Given the description of an element on the screen output the (x, y) to click on. 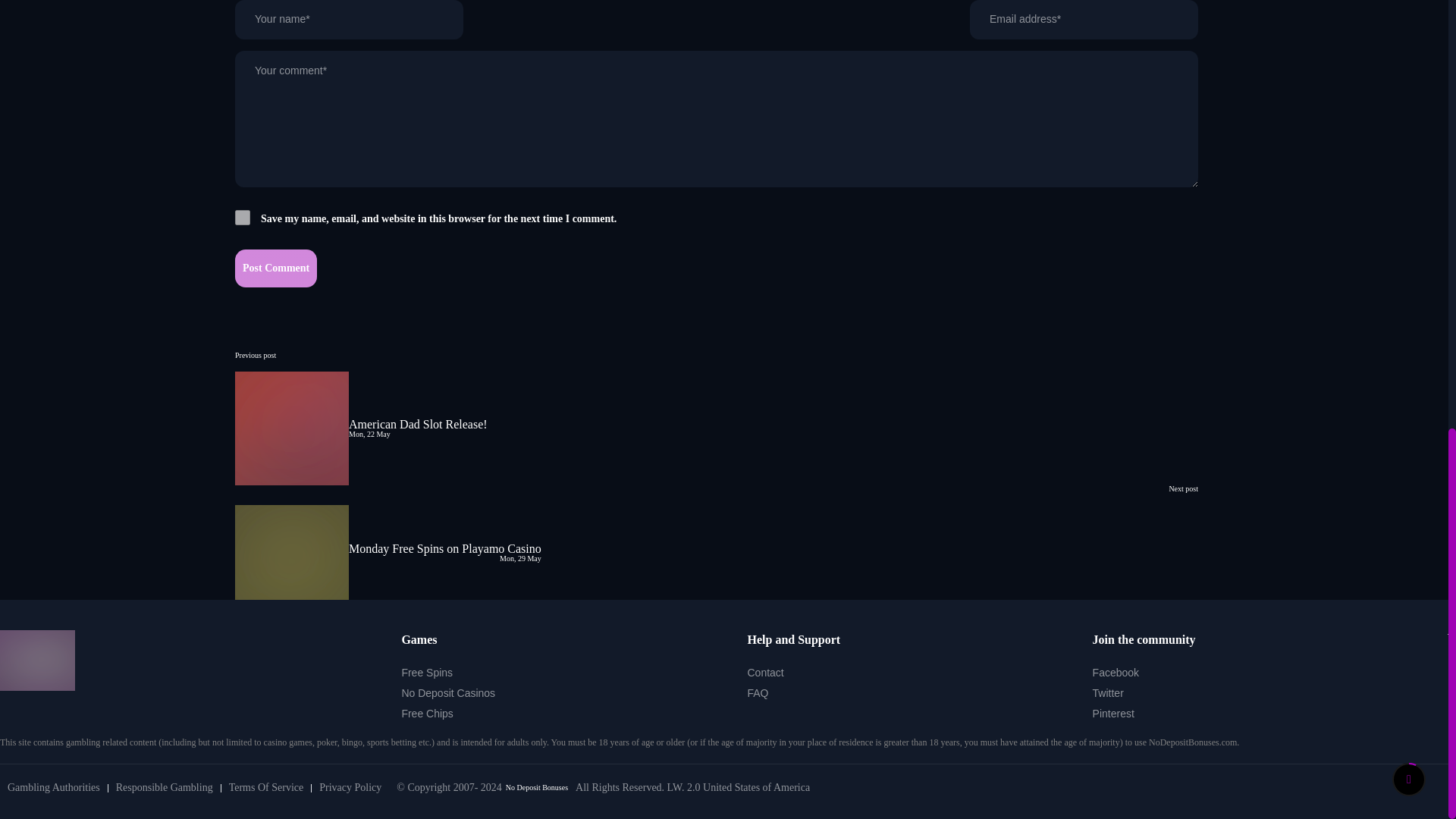
Post Comment (275, 268)
Post Comment (275, 268)
Previous post (255, 355)
yes (242, 217)
Next post (1183, 488)
